Given the description of an element on the screen output the (x, y) to click on. 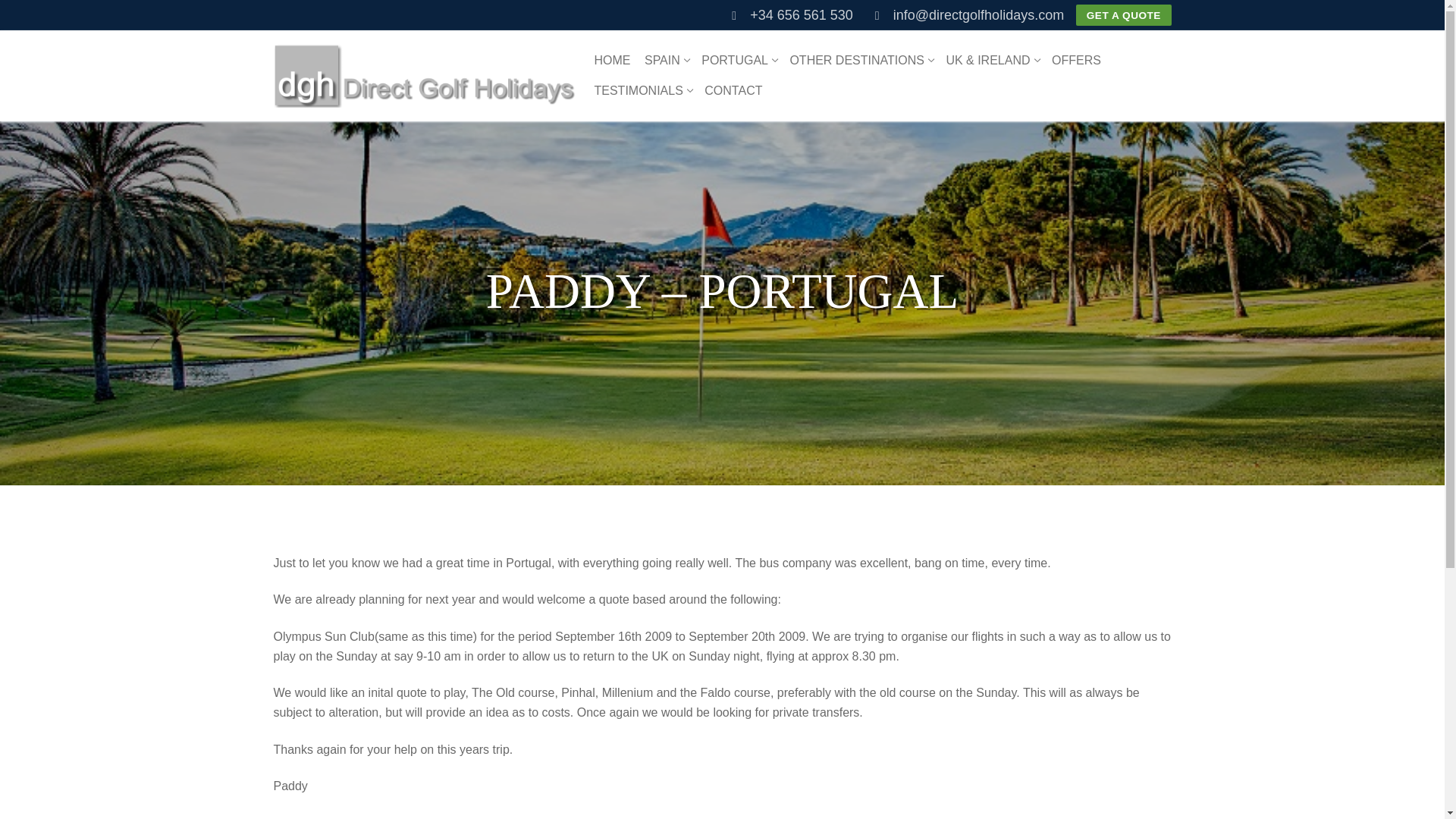
CONTACT (641, 91)
HOME (732, 91)
GET A QUOTE (611, 60)
OFFERS (737, 60)
